Given the description of an element on the screen output the (x, y) to click on. 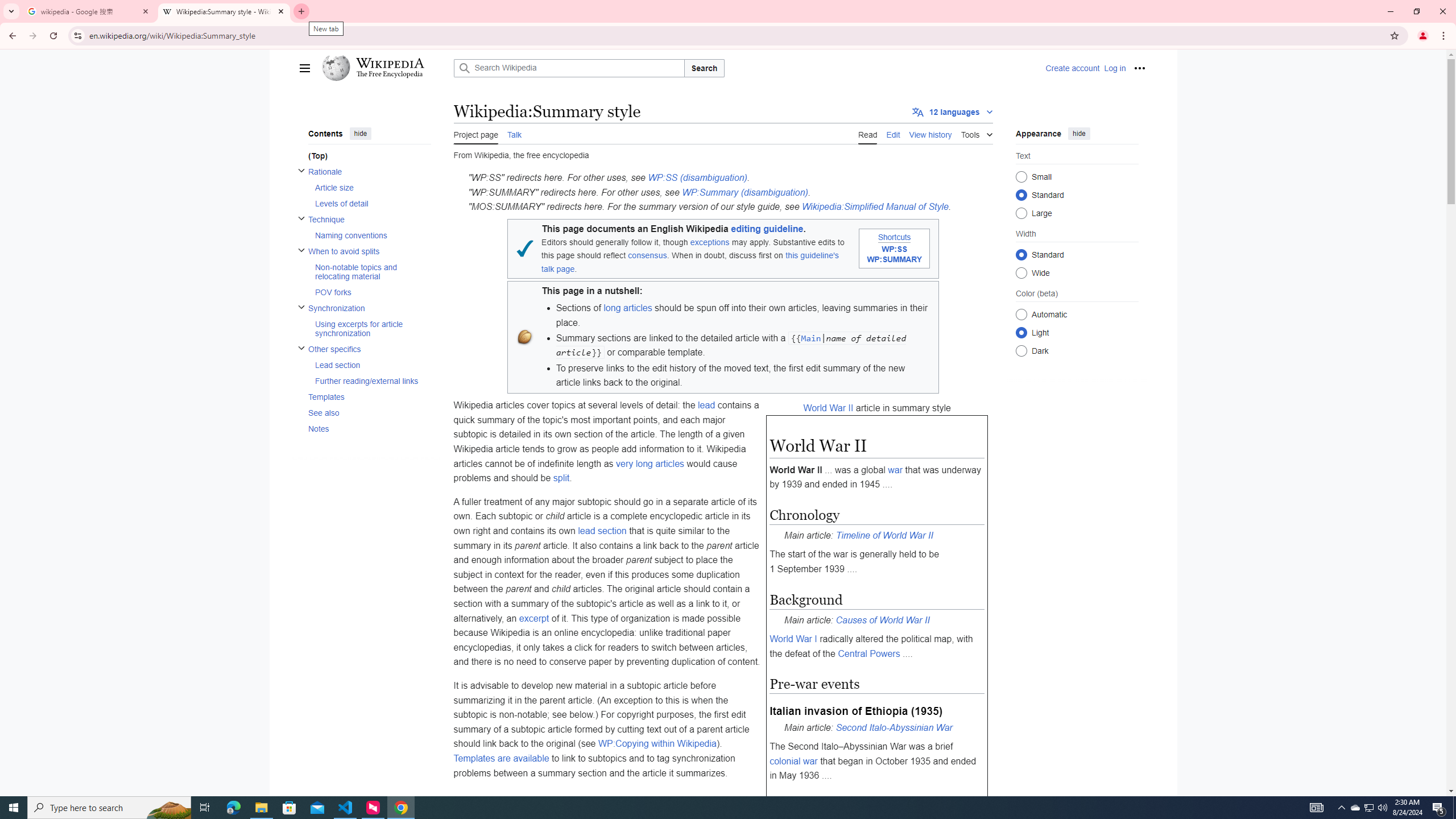
AutomationID: toc-Non-notable_topics_and_relocating_material (368, 271)
excerpt (533, 618)
Lead section (372, 364)
AutomationID: toc-POV_forks (368, 292)
Create account (1072, 67)
Project page (475, 133)
Standard (1020, 254)
WP:SS (disambiguation) (696, 177)
Non-notable topics and relocating material (372, 271)
Other specifics (368, 348)
AutomationID: toc-Other_specifics (365, 364)
